Given the description of an element on the screen output the (x, y) to click on. 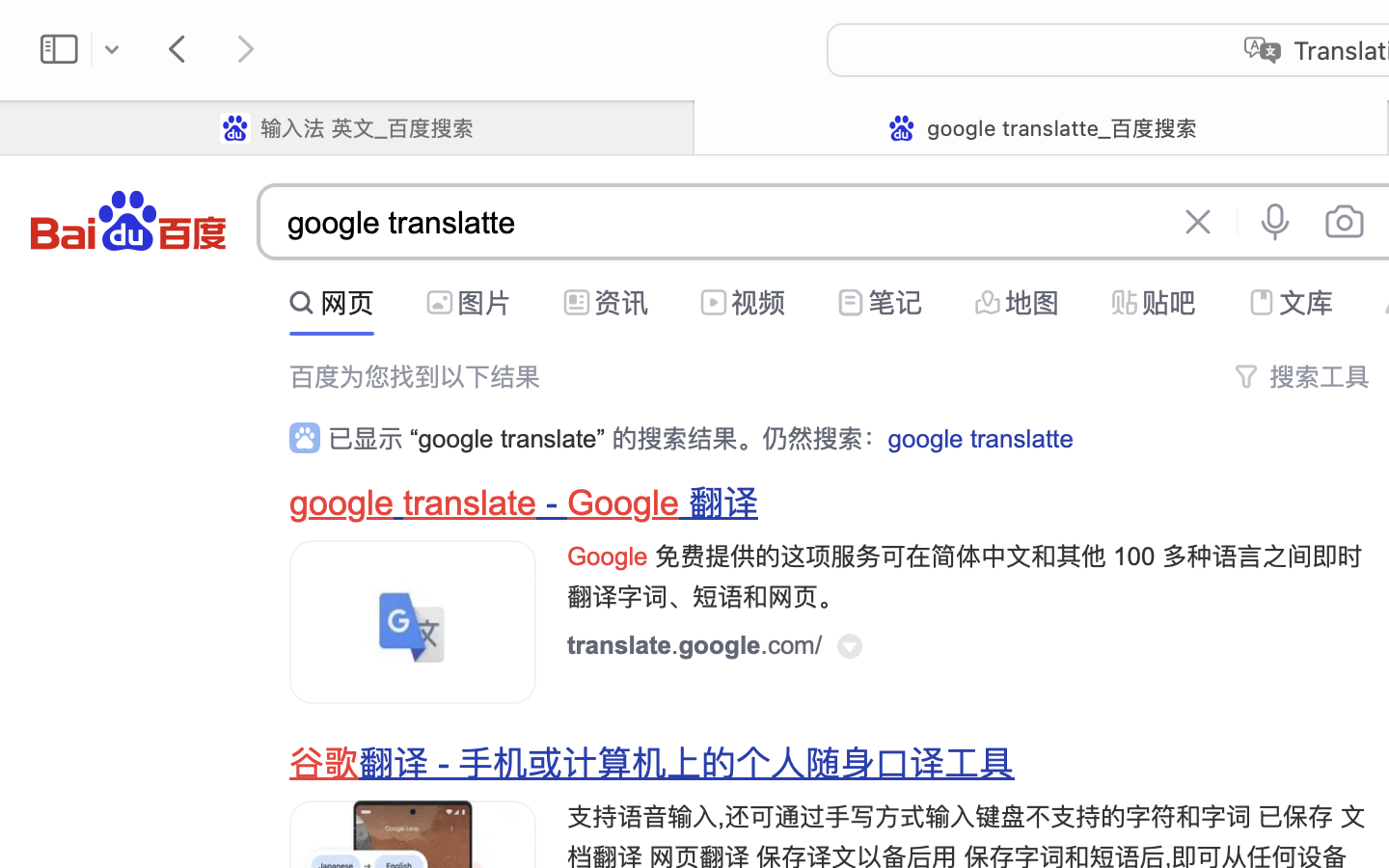
google translatte Element type: AXStaticText (980, 438)
 Element type: AXStaticText (1197, 221)
 Element type: AXStaticText (1245, 296)
已显示 Element type: AXStaticText (368, 438)
所有网页和文件 Element type: AXStaticText (562, 297)
